Given the description of an element on the screen output the (x, y) to click on. 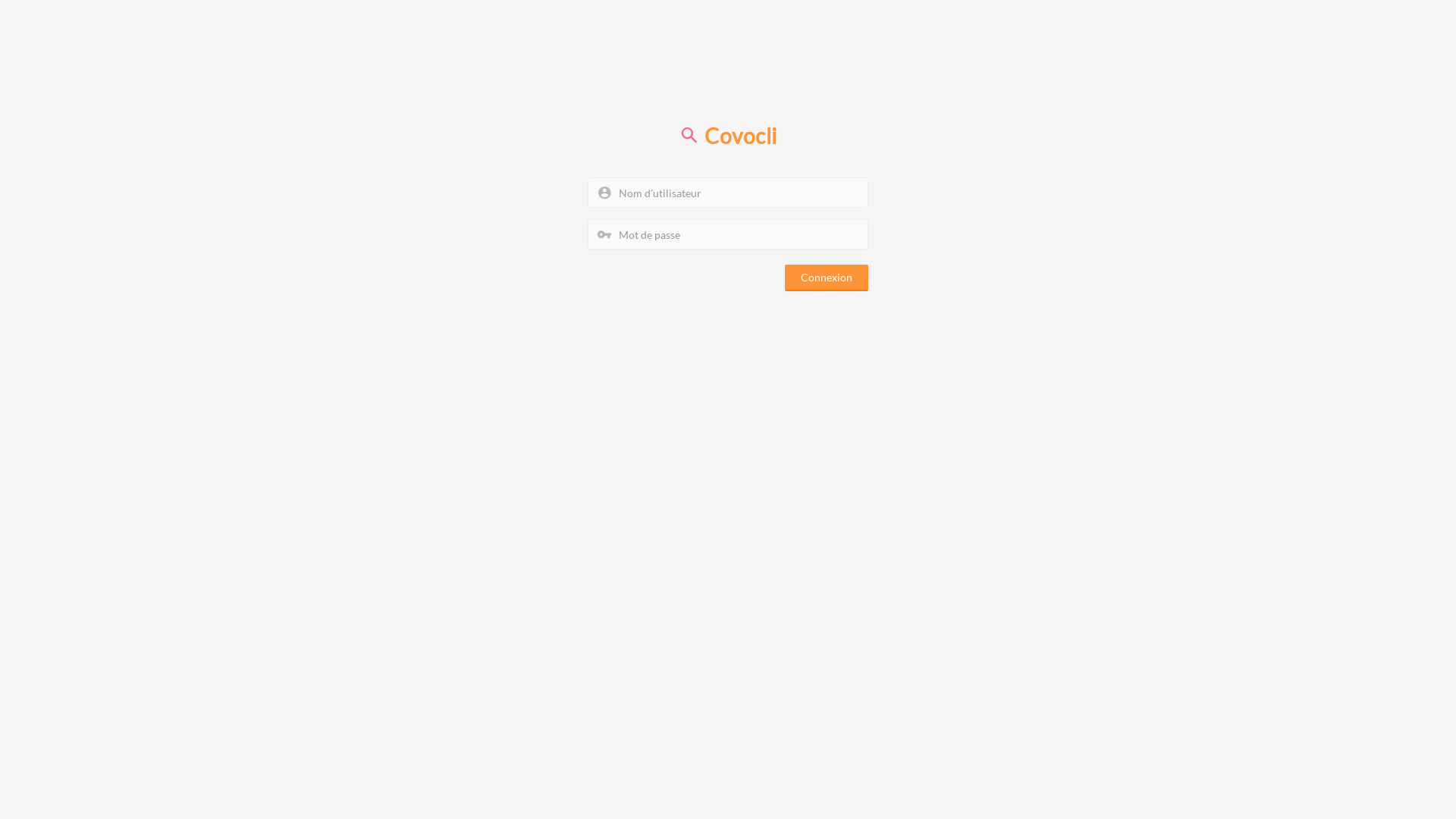
Covocli Element type: text (727, 135)
Connexion Element type: text (826, 277)
